Given the description of an element on the screen output the (x, y) to click on. 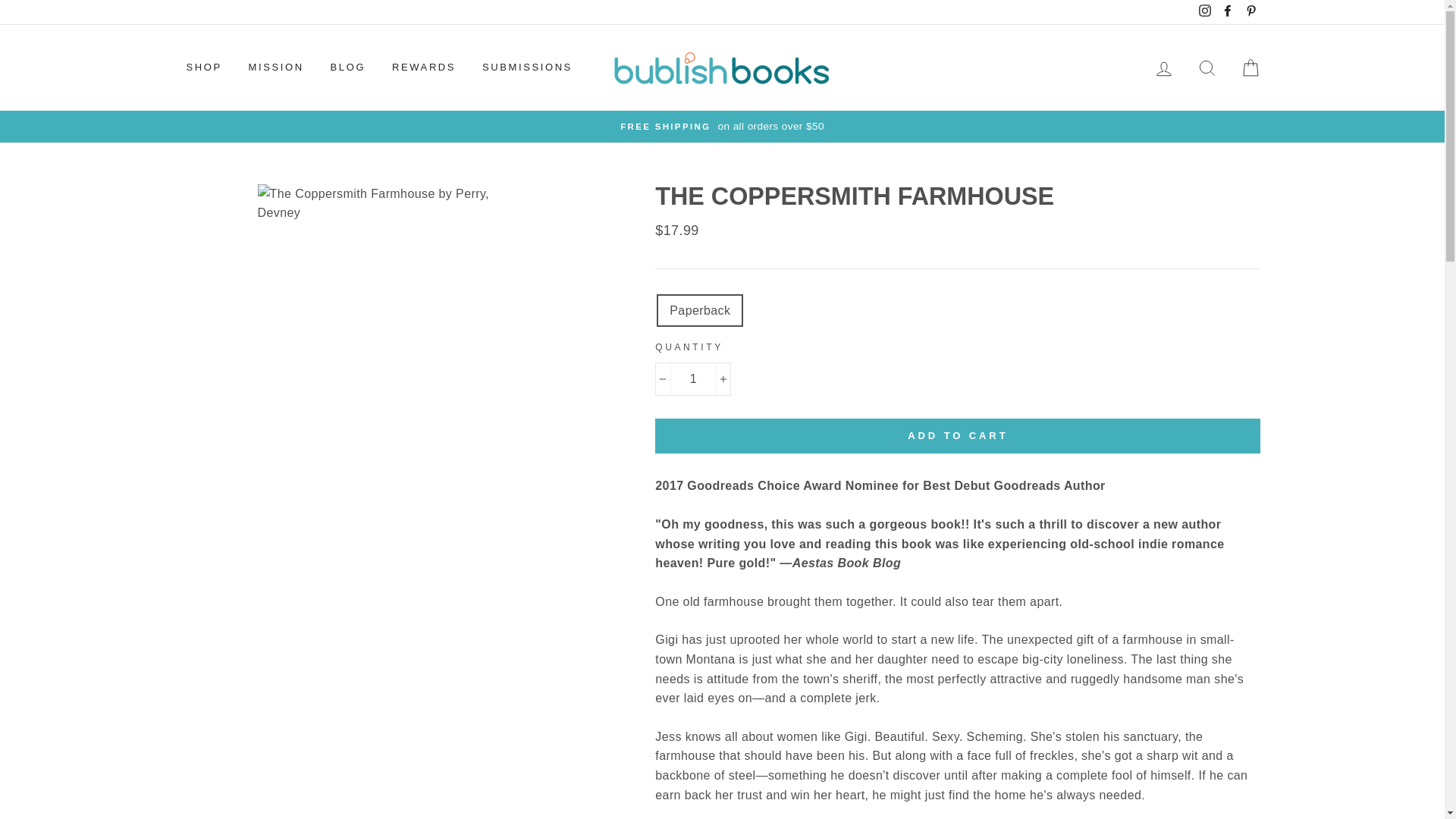
1 (692, 378)
ADD TO CART (957, 435)
REWARDS (423, 67)
SHOP (203, 67)
SUBMISSIONS (526, 67)
MISSION (276, 67)
CART (1249, 67)
LOG IN (1163, 67)
